Given the description of an element on the screen output the (x, y) to click on. 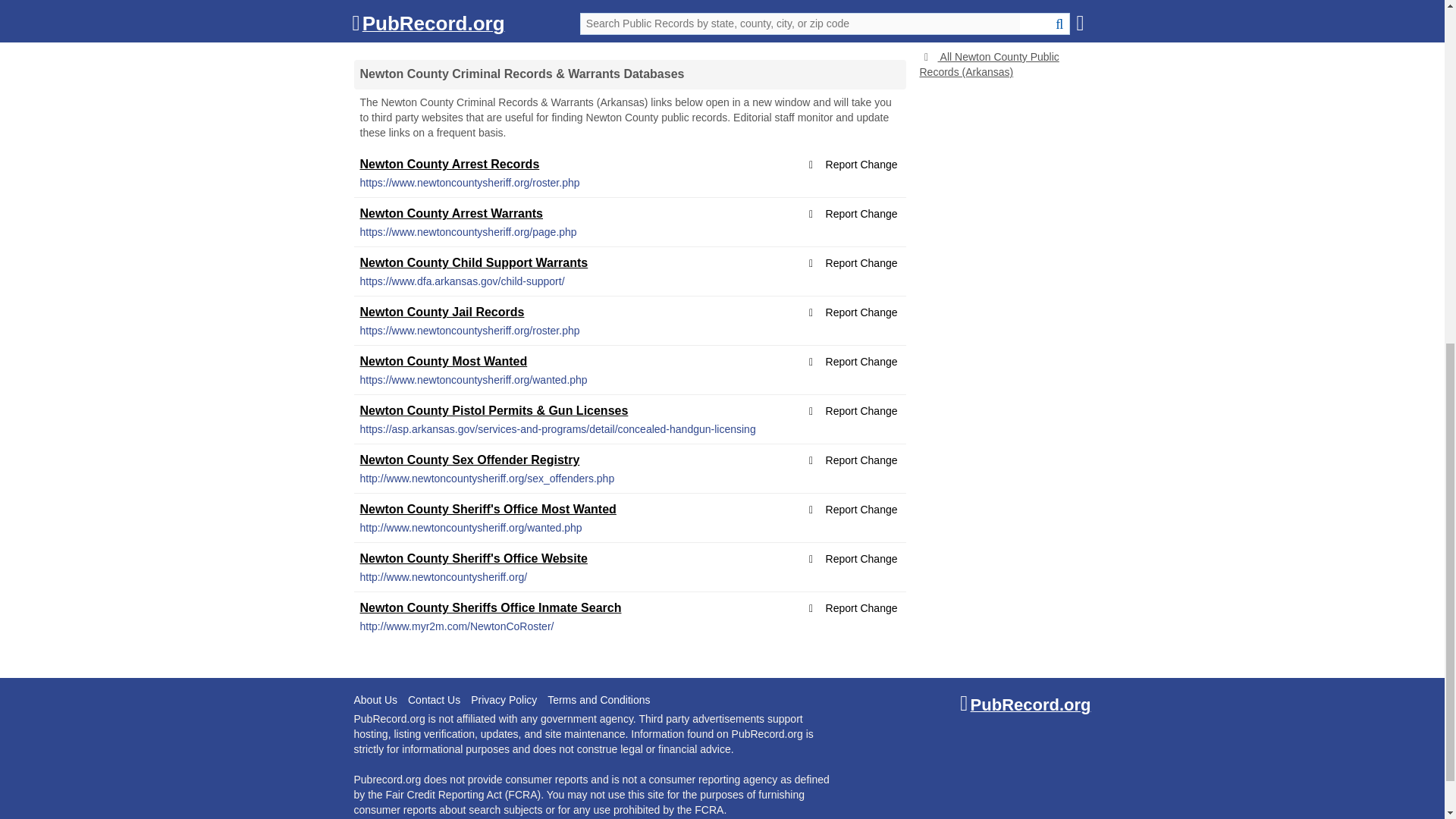
Newton County Most Wanted (443, 360)
Newton County Child Support Warrants (473, 262)
Newton County Sex Offender Registry (469, 459)
Newton County Arrest Warrants (451, 213)
Newton County Arrest Warrants (451, 213)
Newton County Sheriff's Office Website (472, 558)
870-446-2633 (534, 35)
Newton County Child Support Warrants (473, 262)
Newton County Most Wanted (443, 360)
Newton County Arrest Records (448, 164)
Newton County Jail Records (441, 311)
Newton County Sheriff's Office Most Wanted (487, 508)
Newton County Arrest Records (448, 164)
Directions (741, 33)
Newton County Jail Records (441, 311)
